Given the description of an element on the screen output the (x, y) to click on. 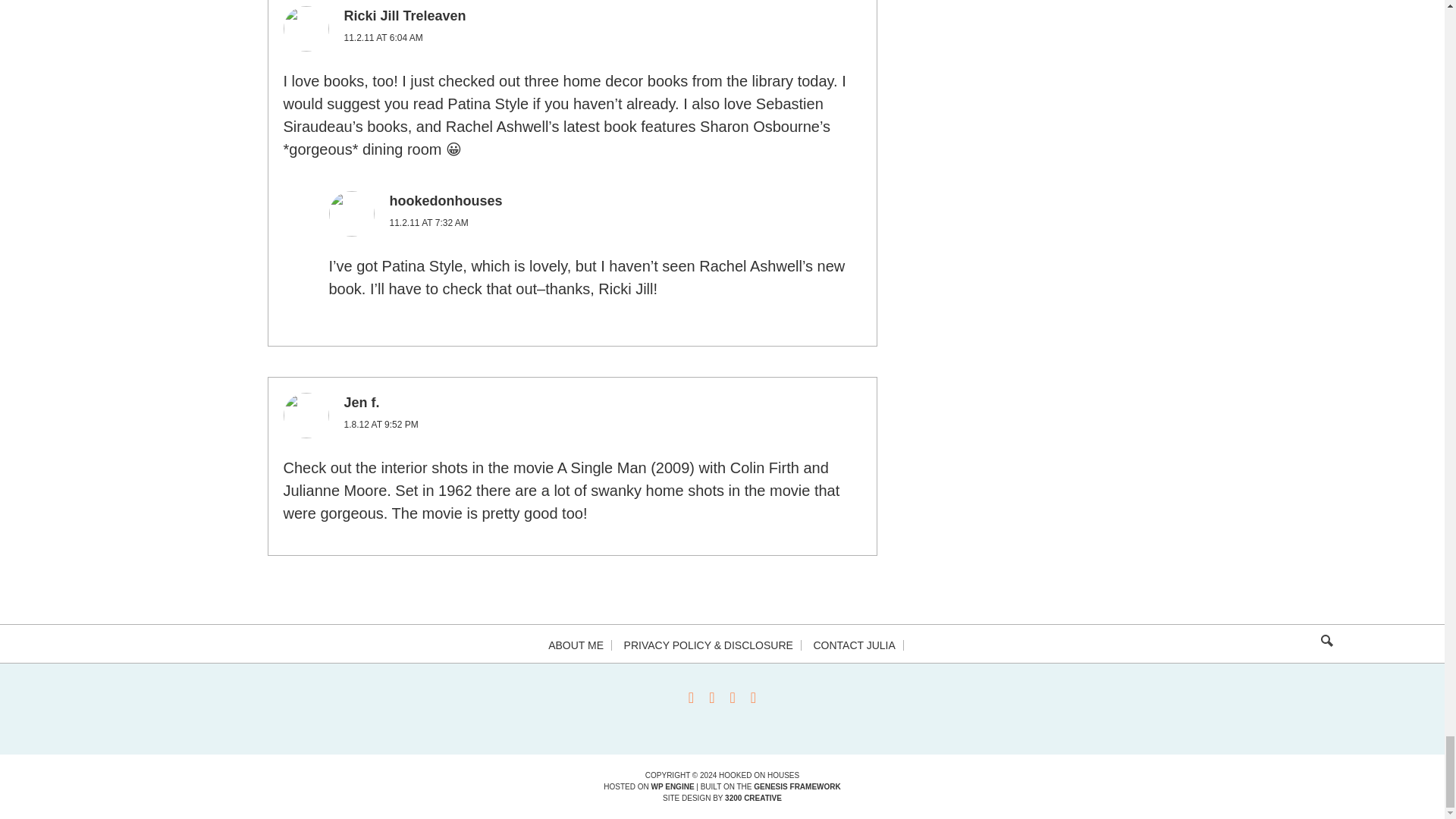
Site Design by 3200 Creative - 3200creative.com (753, 797)
Genesis Framework by StudioPress (797, 786)
Powerful WordPress Hosting by WP Engine (672, 786)
